Given the description of an element on the screen output the (x, y) to click on. 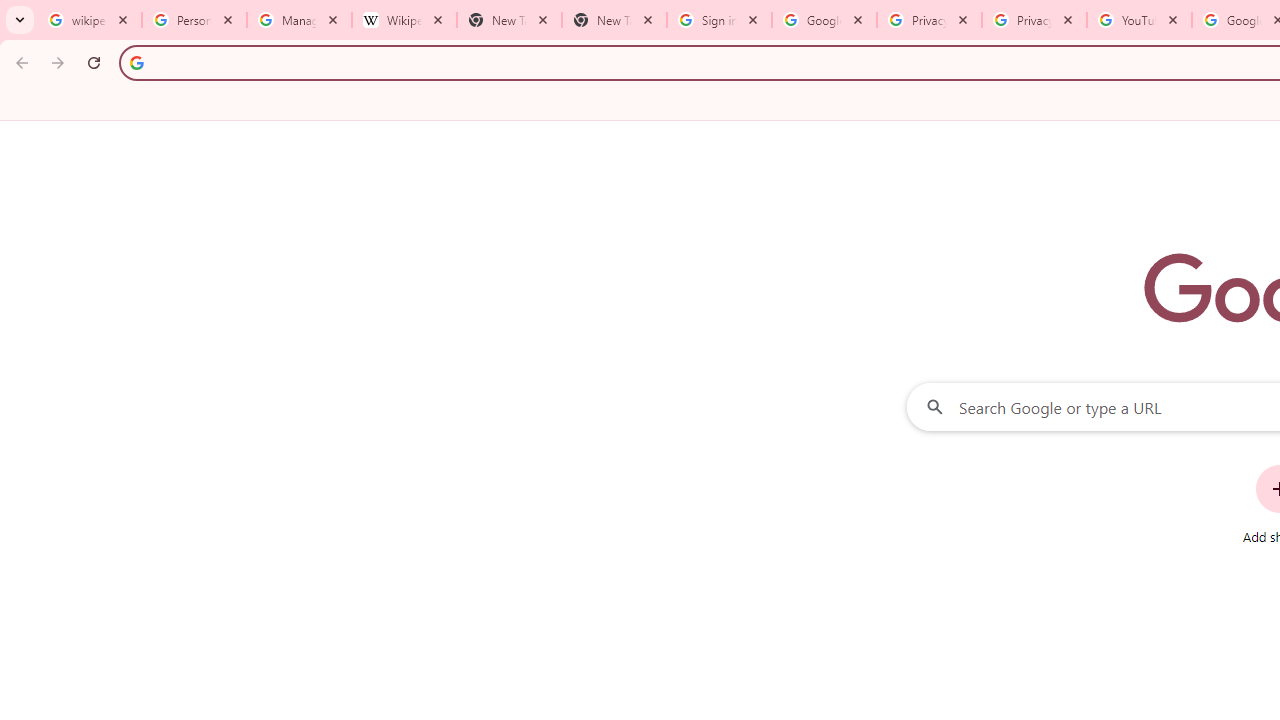
Wikipedia:Edit requests - Wikipedia (404, 20)
Google Drive: Sign-in (823, 20)
